Given the description of an element on the screen output the (x, y) to click on. 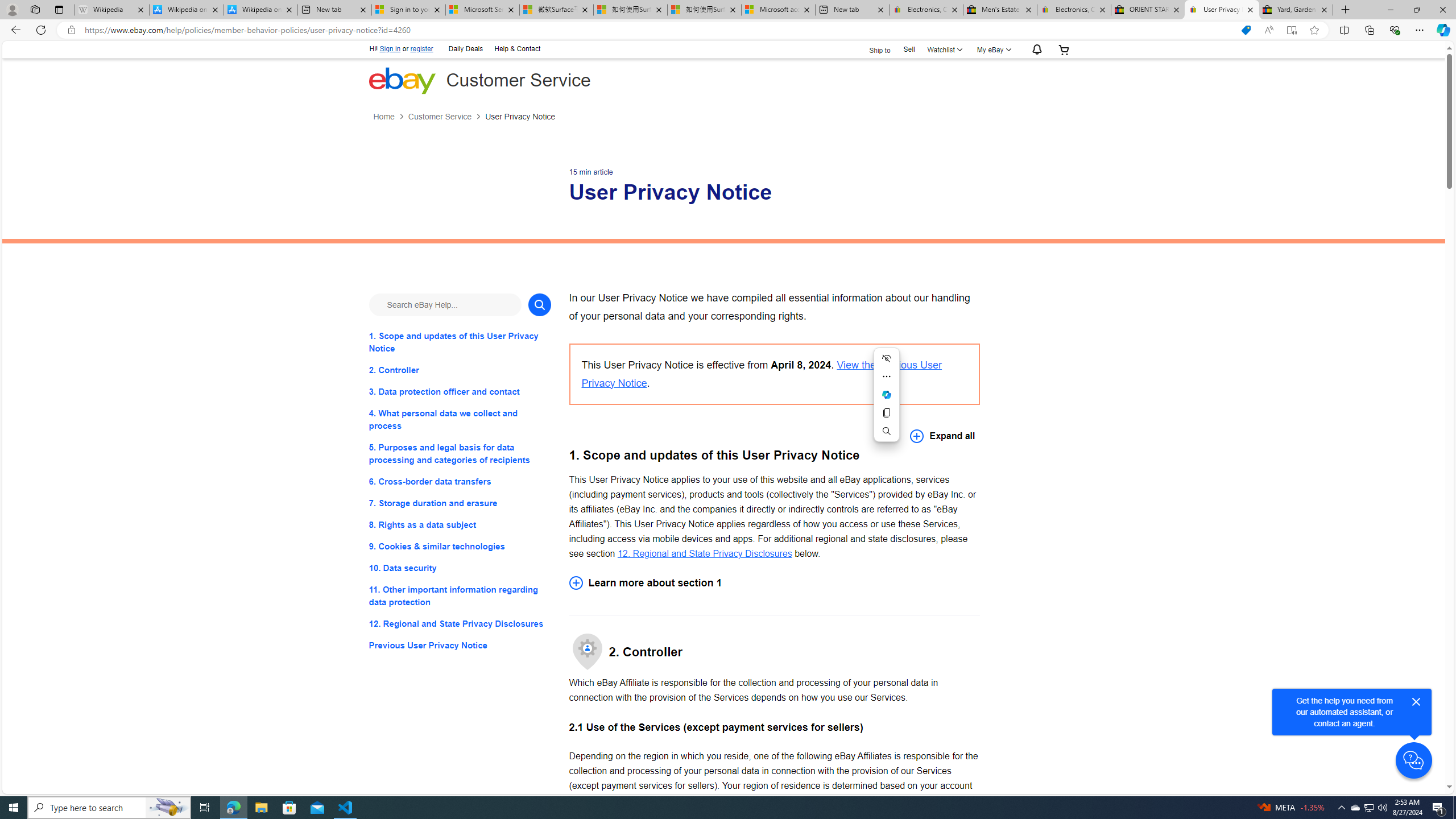
Search eBay Help... (444, 304)
Expand Cart (1064, 49)
Customer Service (446, 117)
